Given the description of an element on the screen output the (x, y) to click on. 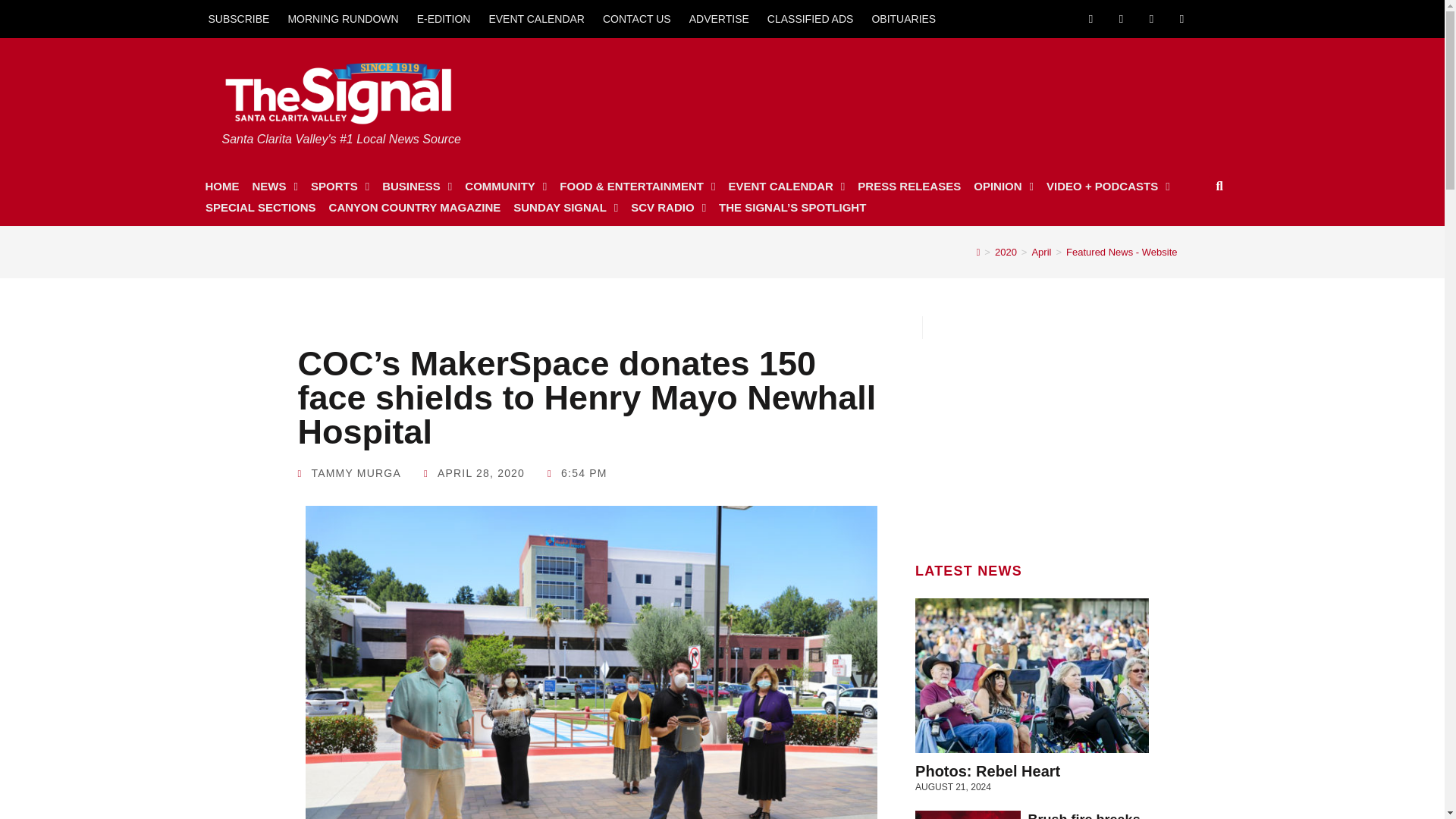
E-EDITION (443, 18)
EVENT CALENDAR (536, 18)
SPORTS (339, 186)
ADVERTISE (718, 18)
HOME (221, 186)
CLASSIFIED ADS (810, 18)
SUBSCRIBE (238, 18)
MORNING RUNDOWN (342, 18)
NEWS (274, 186)
OBITUARIES (902, 18)
